Given the description of an element on the screen output the (x, y) to click on. 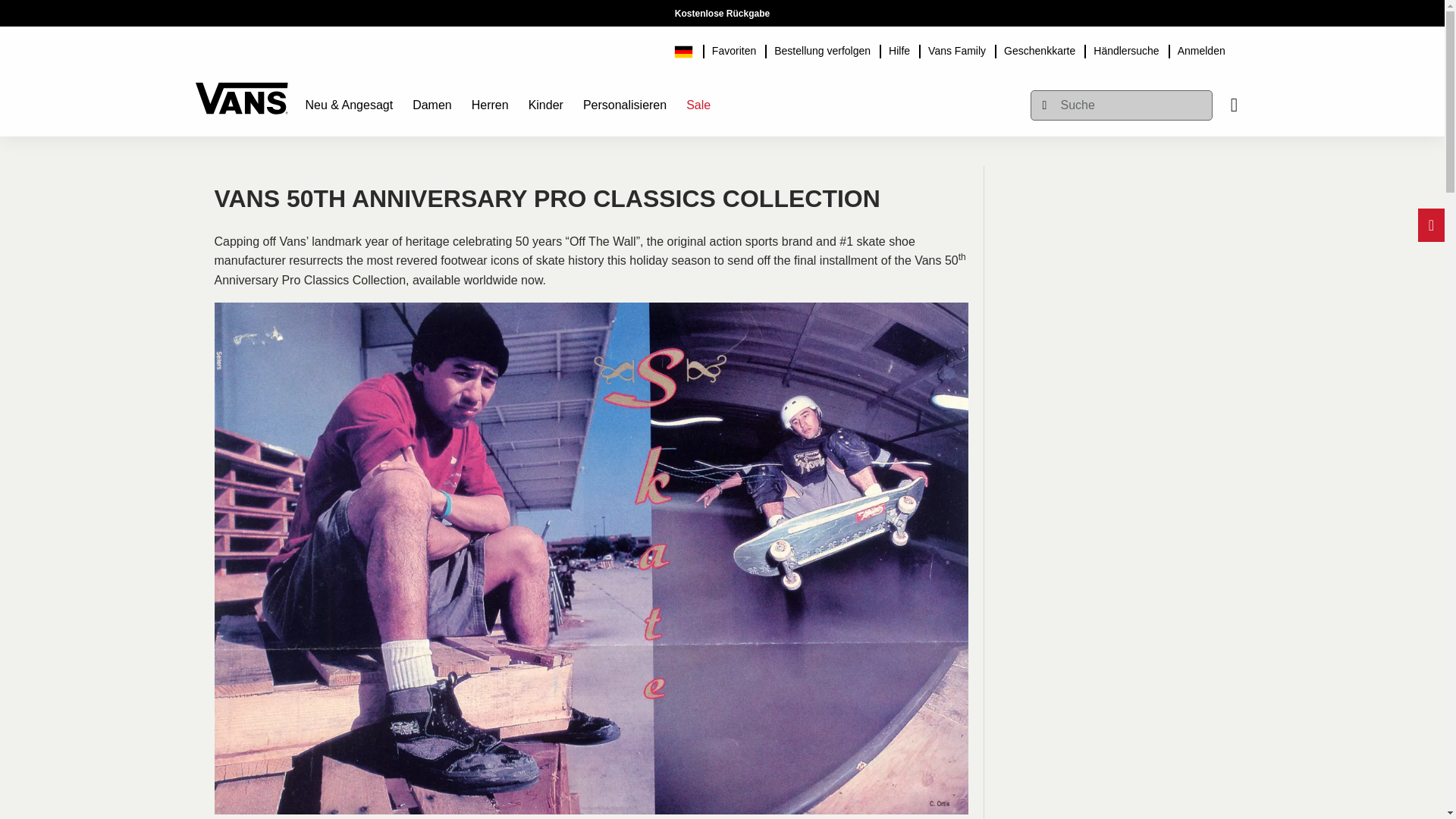
Vans (241, 91)
Anmelden (1201, 48)
Vans Family (956, 48)
Hilfe (898, 48)
Bestellung verfolgen (822, 48)
Geschenkkarte (1039, 48)
Favoriten (734, 48)
